Given the description of an element on the screen output the (x, y) to click on. 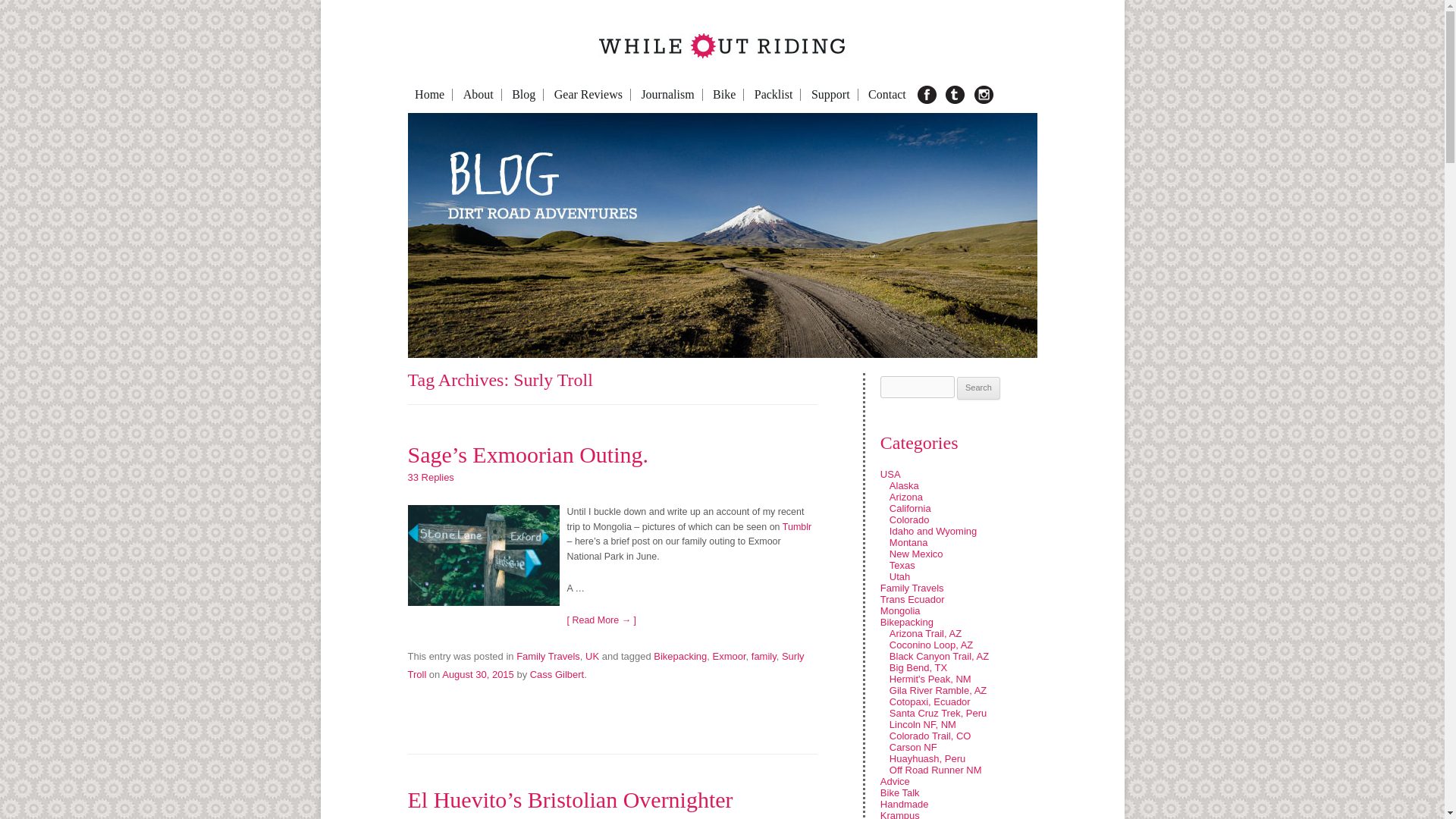
family (763, 655)
Journalism (667, 94)
View all posts by Cass Gilbert (556, 674)
Tumblr (796, 526)
Contact (887, 94)
UK (591, 655)
Bike (724, 94)
While Out Riding (399, 73)
Exmoor (729, 655)
7:08 am (477, 674)
Gear Reviews (588, 94)
Search (978, 387)
FB (928, 94)
While Out Riding (399, 73)
Home (429, 94)
